Given the description of an element on the screen output the (x, y) to click on. 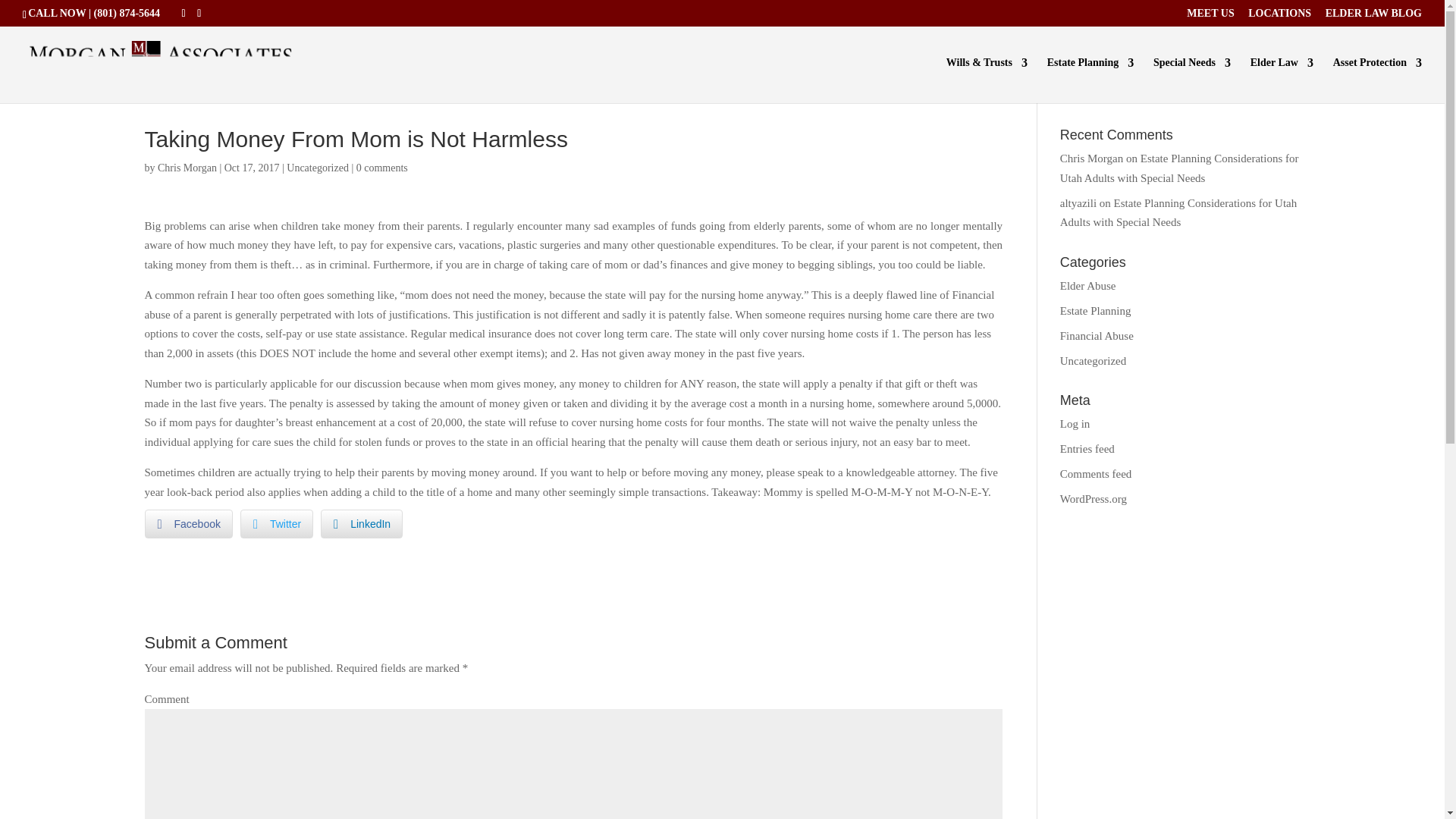
Estate Planning (1090, 80)
Elder Law (1281, 80)
ELDER LAW BLOG (1373, 16)
LOCATIONS (1279, 16)
Special Needs Attorney (1191, 80)
Special Needs (1191, 80)
Utah Elder Law Attorney  (1281, 80)
MEET US (1209, 16)
Offering Trusts and More (1090, 80)
Law Offices in Lehi and Santaquin Utah (1279, 16)
Posts by Chris Morgan (186, 167)
Elder Law Articles and Resources (1373, 16)
